Given the description of an element on the screen output the (x, y) to click on. 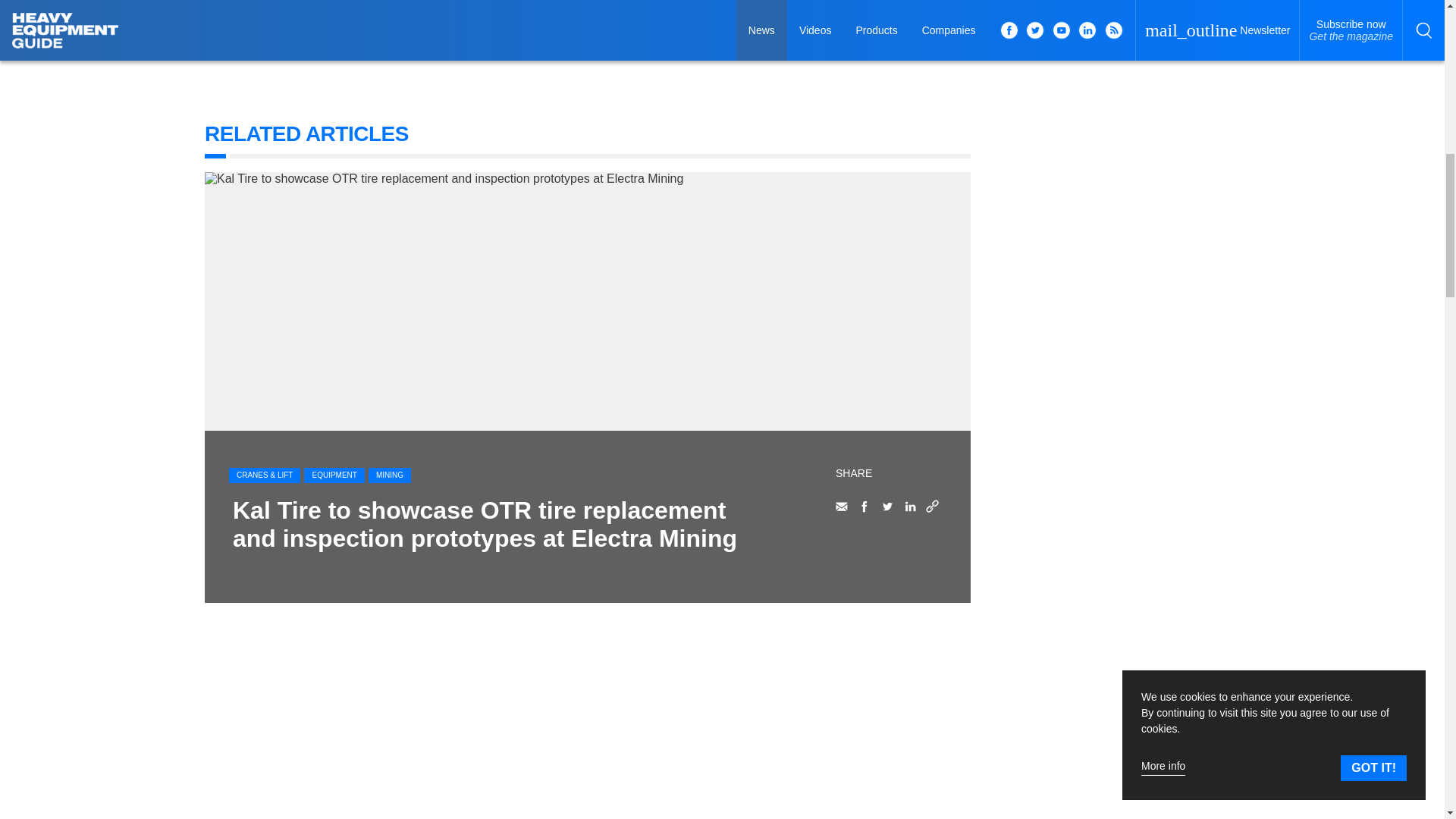
EQUIPMENT (334, 475)
MINING (389, 475)
